Given the description of an element on the screen output the (x, y) to click on. 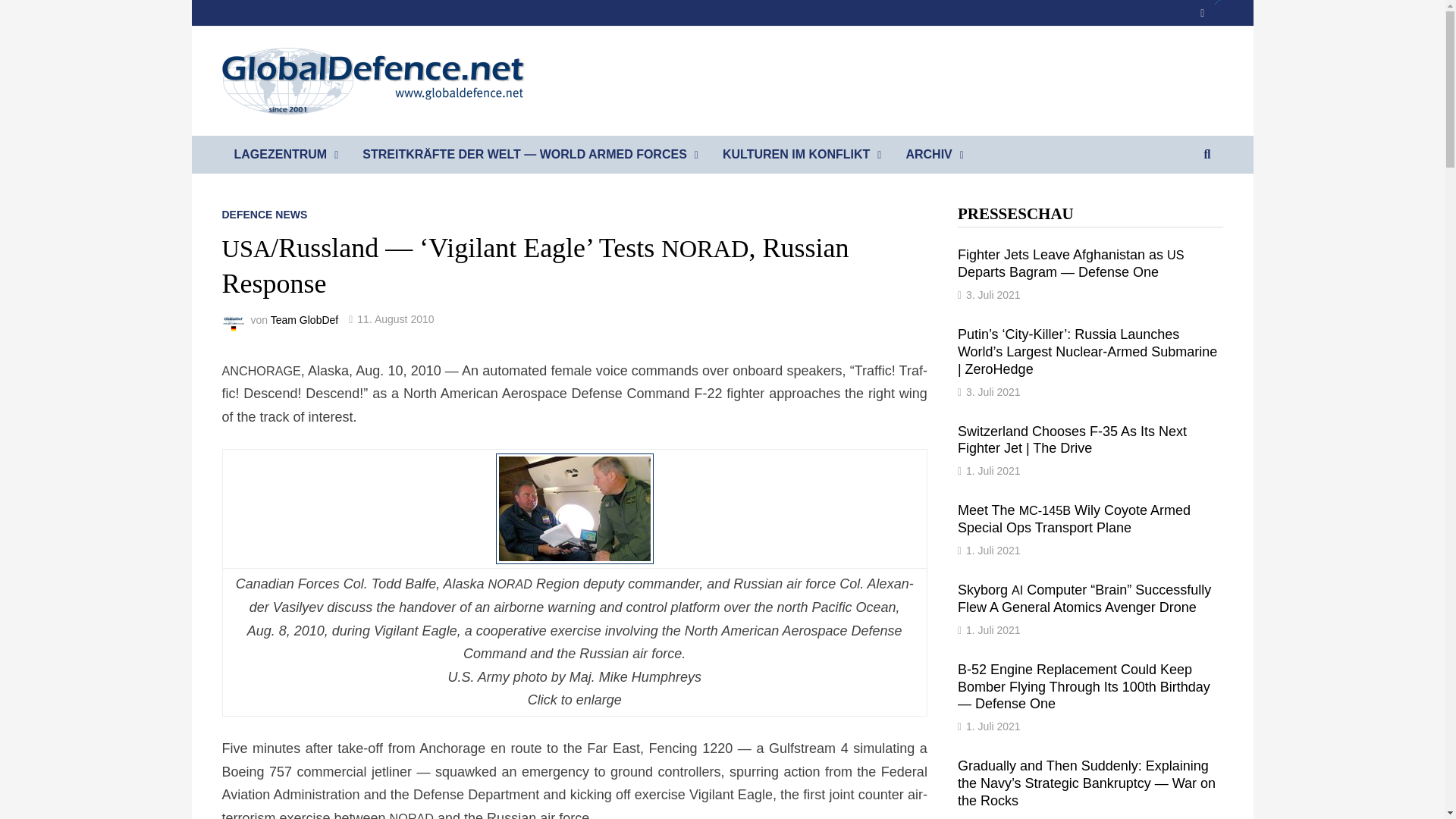
ARCHIV (934, 154)
LAGEZENTRUM (285, 154)
KULTUREN IM KONFLIKT (801, 154)
RSS (1209, 11)
